Given the description of an element on the screen output the (x, y) to click on. 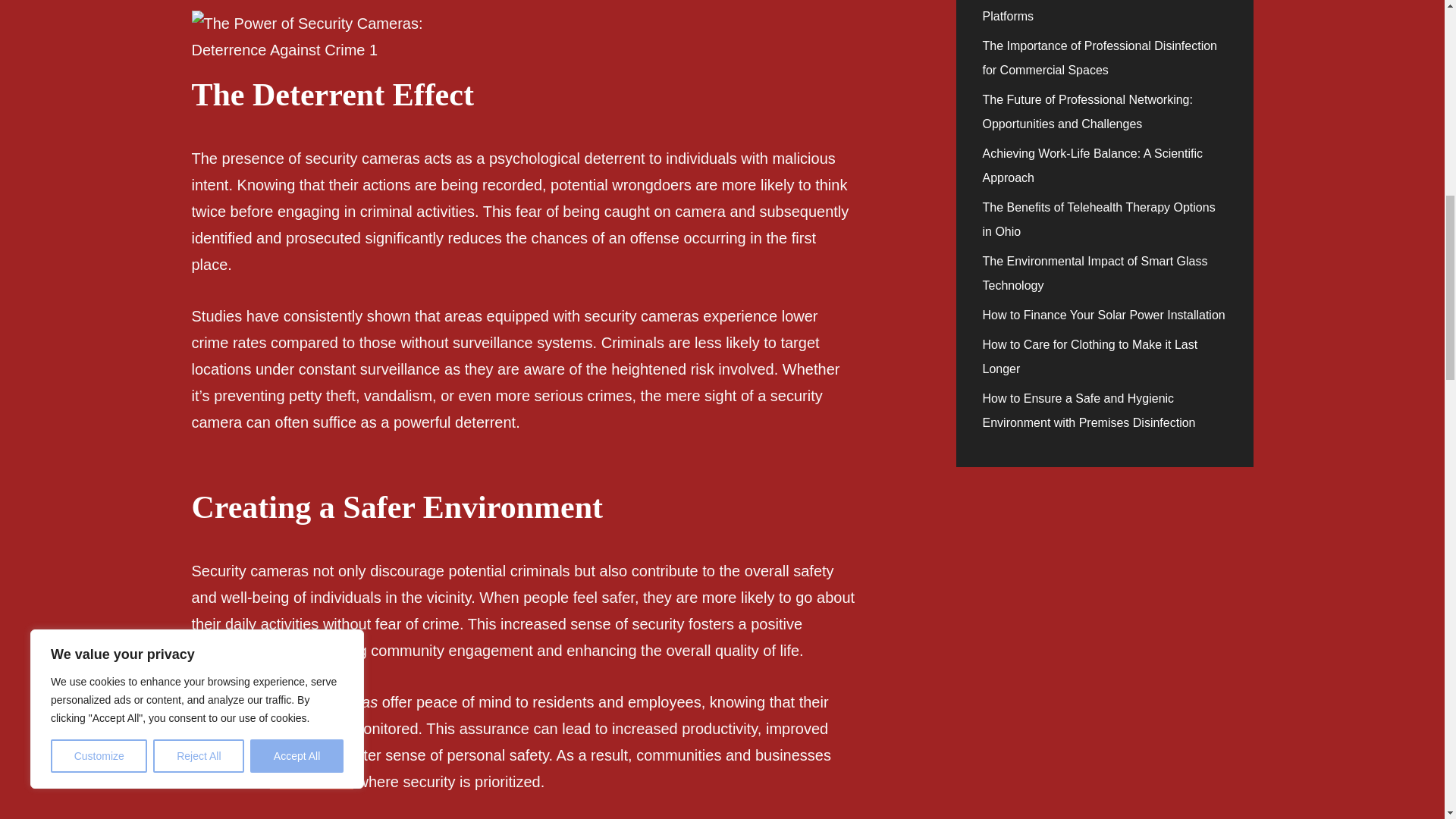
Ensuring the Legitimacy of Online Gambling Platforms (1101, 11)
environment (311, 781)
